Given the description of an element on the screen output the (x, y) to click on. 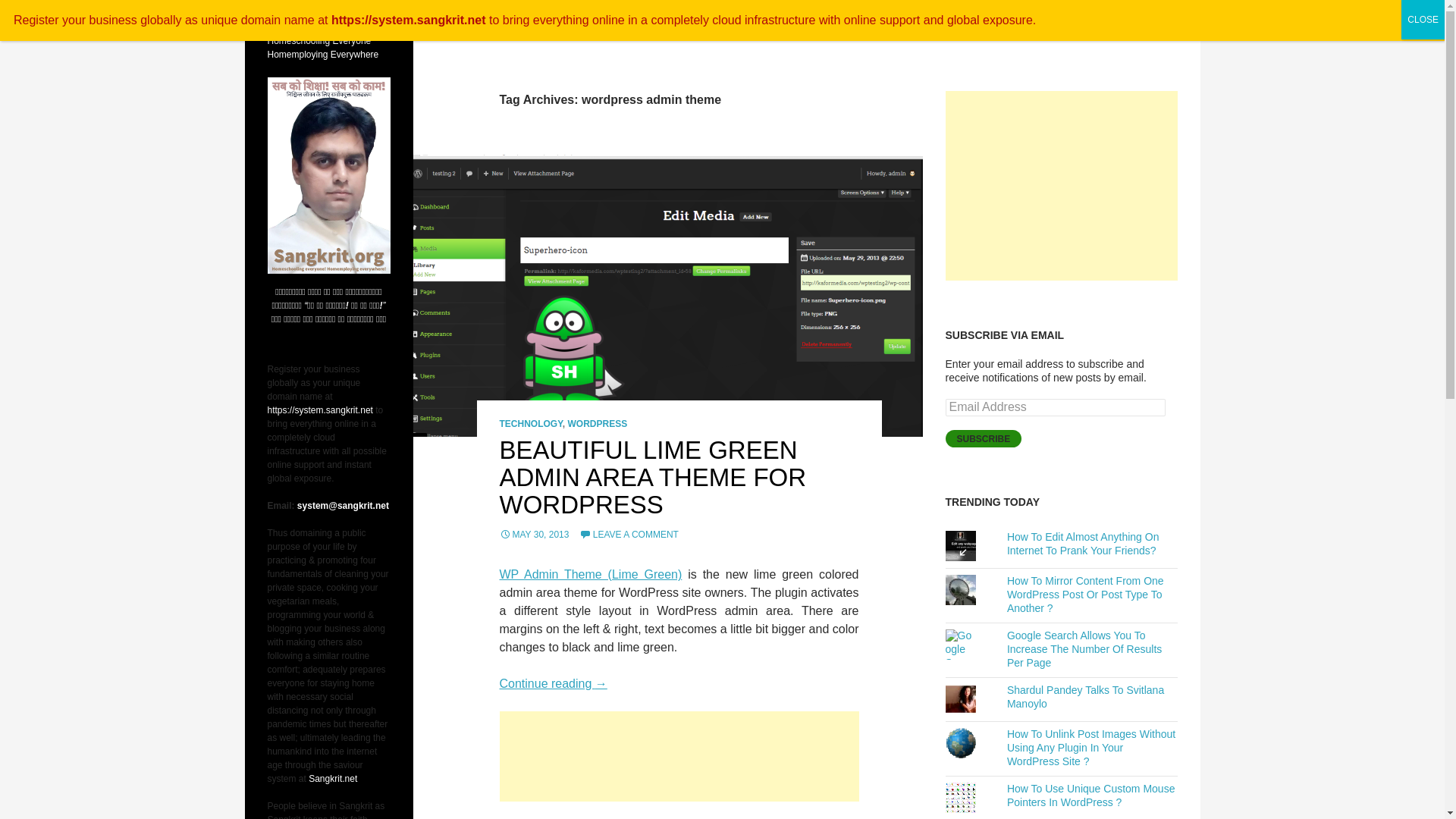
STARTUP INTERFACE (953, 18)
MAY 30, 2013 (534, 534)
BEAUTIFUL LIME GREEN ADMIN AREA THEME FOR WORDPRESS (652, 476)
WORDPRESS (597, 423)
INTERNET INFRASTRUCTURE (1088, 18)
Advertisement (679, 756)
Shardul Pandey Talks To Svitlana Manoylo (1085, 696)
Advertisement (1060, 185)
TECHNOLOGY (530, 423)
